Given the description of an element on the screen output the (x, y) to click on. 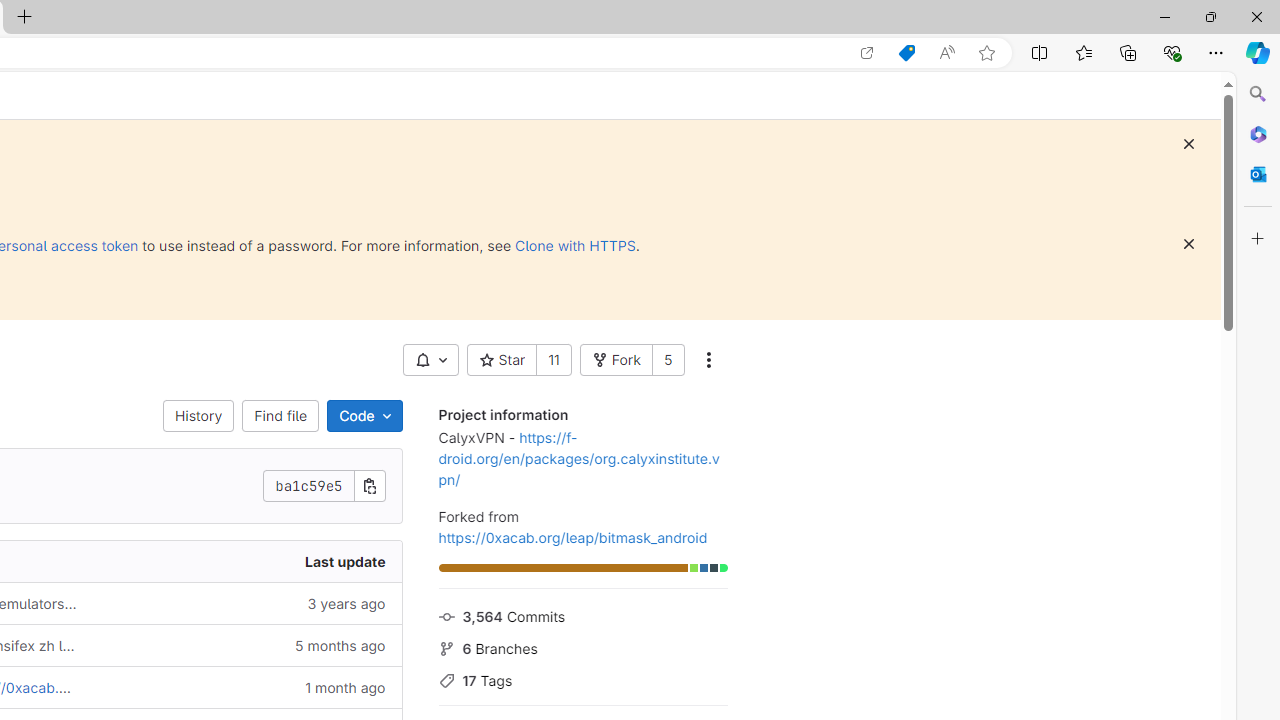
Copy commit SHA (369, 485)
Class: s16 gl-icon gl-button-icon  (1188, 243)
17 Tags (582, 678)
Code (364, 416)
 Star (501, 359)
https://f-droid.org/en/packages/org.calyxinstitute.vpn/ (578, 458)
11 (554, 359)
Customize (1258, 239)
Dismiss (1188, 243)
6 Branches (582, 646)
Open in app (867, 53)
1 month ago (247, 687)
Find file (280, 416)
Clone with HTTPS (575, 245)
